Given the description of an element on the screen output the (x, y) to click on. 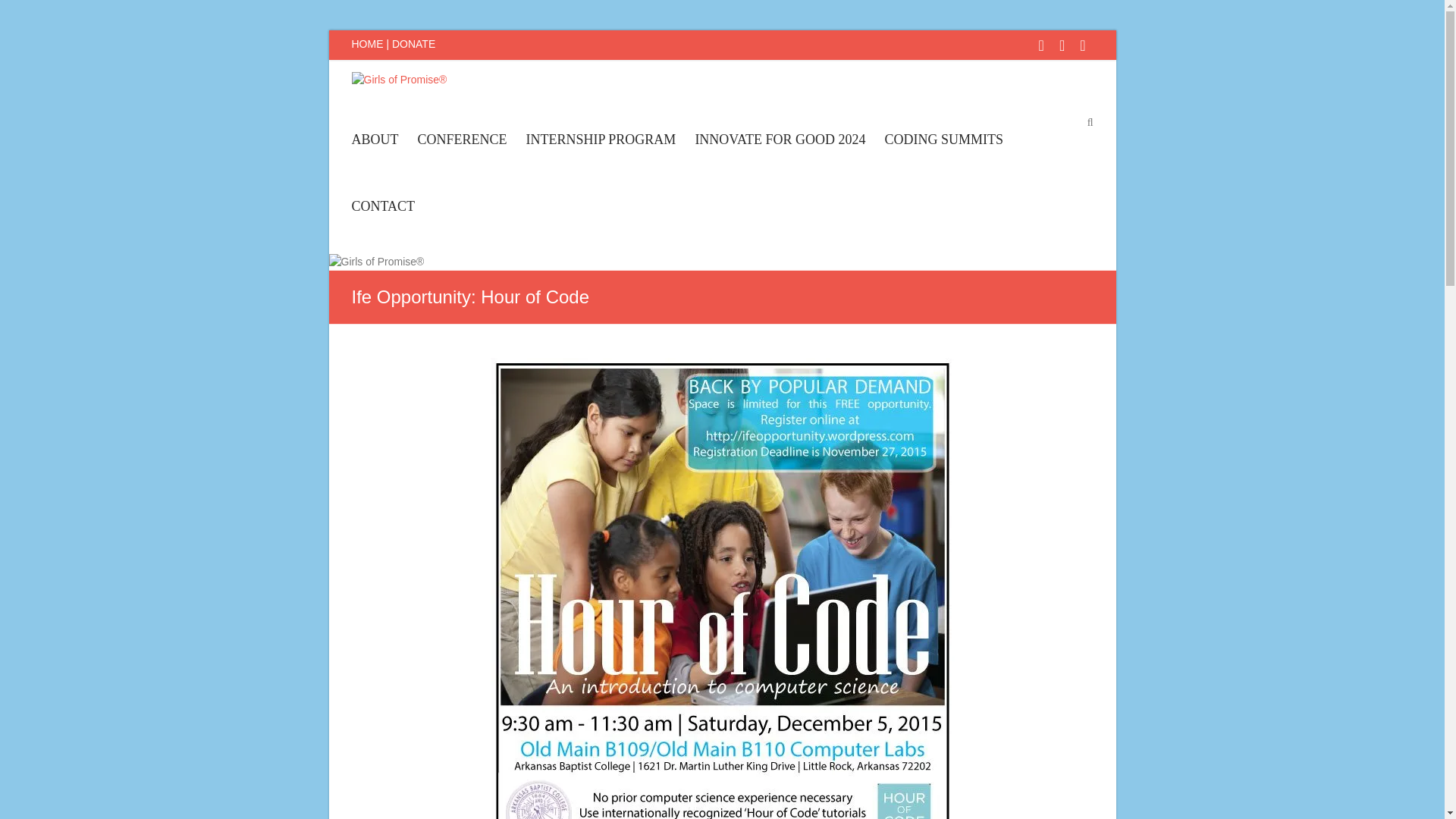
CONFERENCE (461, 153)
HOME (368, 43)
ABOUT (375, 153)
INNOVATE FOR GOOD 2024 (779, 153)
CODING SUMMITS (944, 153)
INTERNSHIP PROGRAM (601, 153)
CONTACT (383, 220)
DONATE (413, 43)
